Given the description of an element on the screen output the (x, y) to click on. 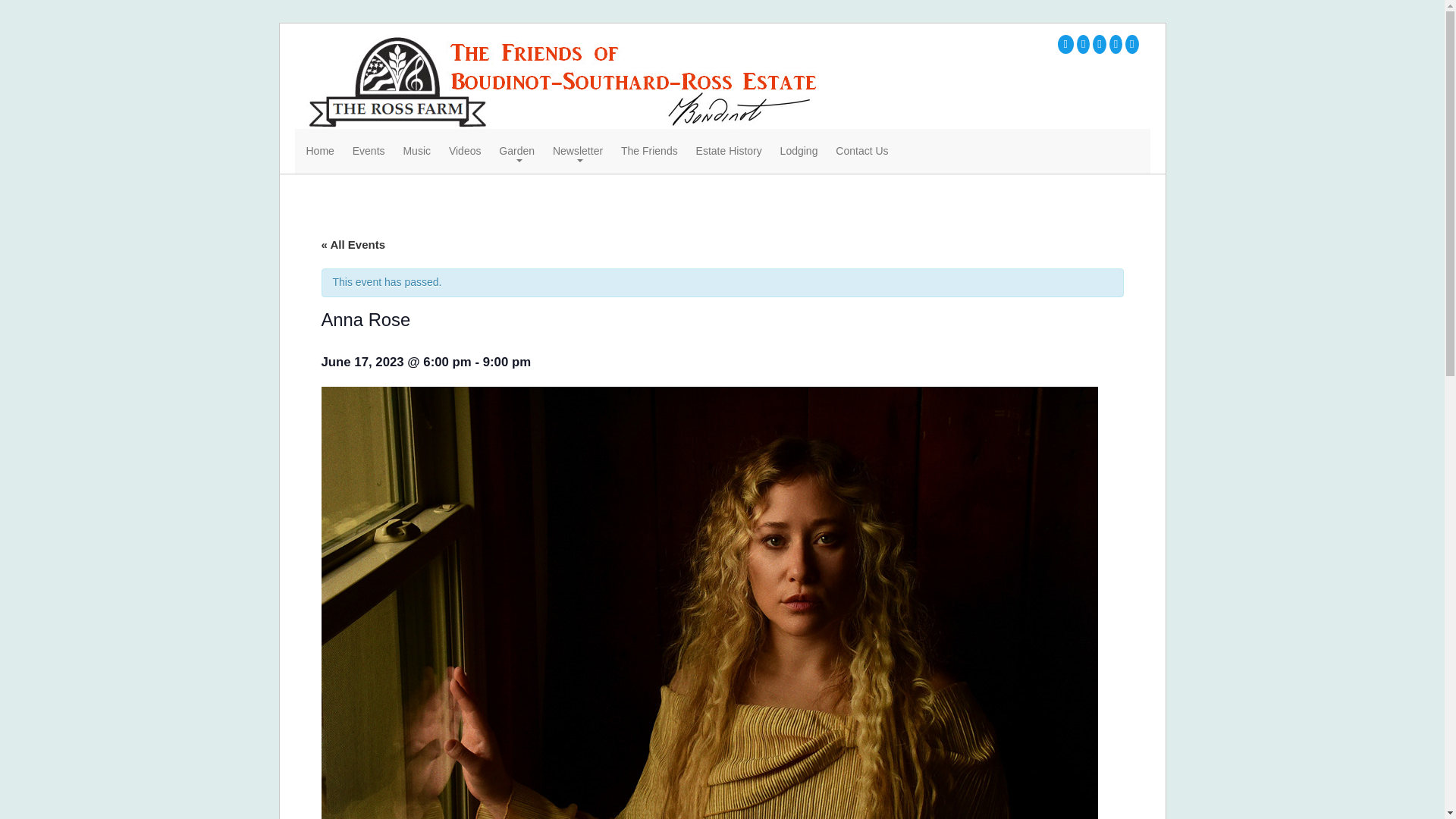
Music (416, 151)
Estate History (728, 151)
Events (368, 151)
Newsletter (577, 151)
The Friends (649, 151)
Home (319, 151)
Contact Us (861, 151)
Lodging (799, 151)
Videos (464, 151)
Garden (516, 151)
